Given the description of an element on the screen output the (x, y) to click on. 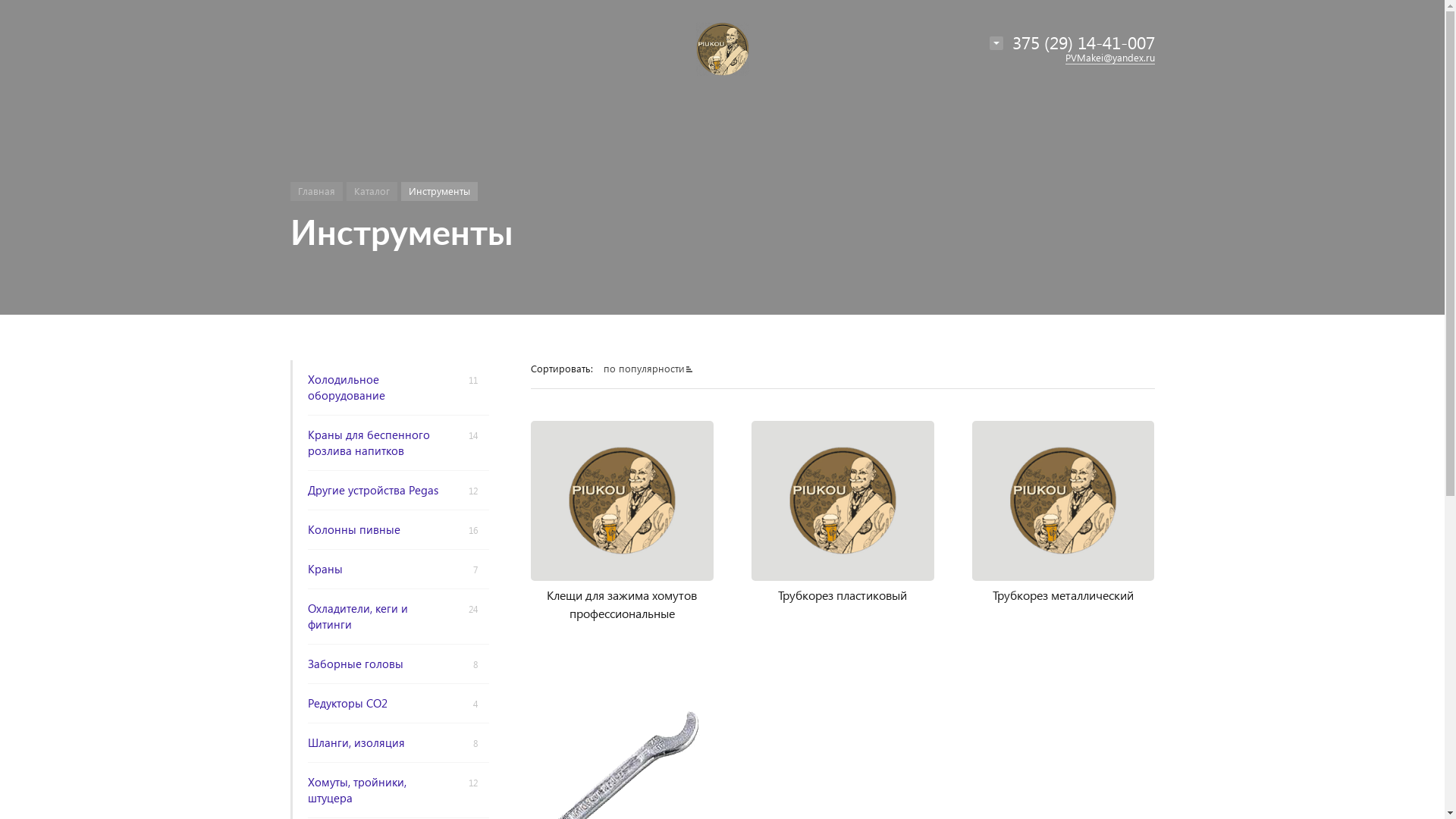
PVMakei@yandex.ru Element type: text (1109, 57)
